Given the description of an element on the screen output the (x, y) to click on. 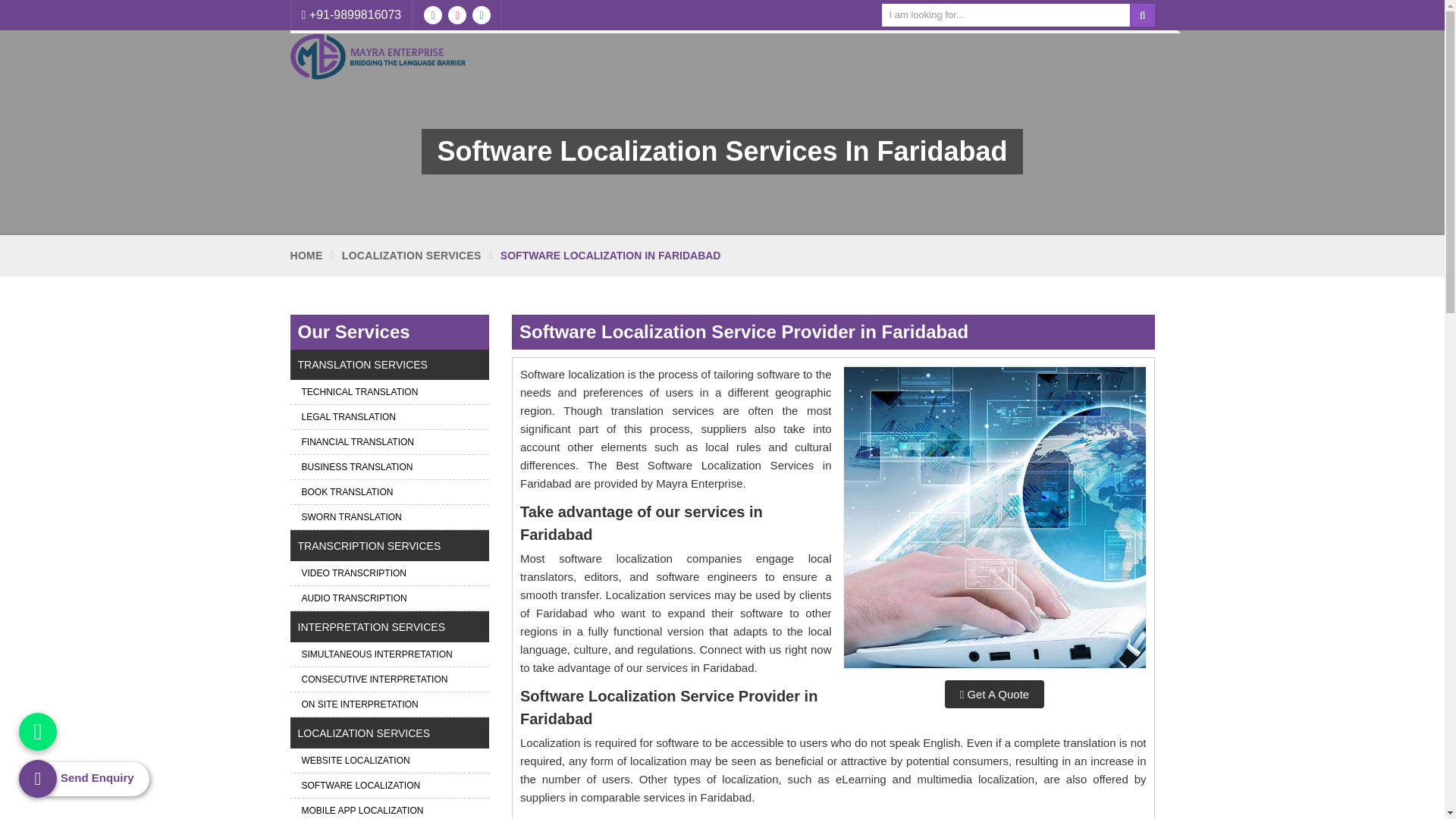
ON SITE INTERPRETATION (389, 704)
Linkedin (480, 14)
LOCALIZATION SERVICES (411, 255)
Youtube (456, 14)
INTERPRETATION SERVICES (389, 626)
SIMULTANEOUS INTERPRETATION (389, 654)
MOBILE APP LOCALIZATION (389, 808)
CONSECUTIVE INTERPRETATION (389, 679)
TRANSCRIPTION SERVICES (389, 545)
Call Us (351, 15)
